Given the description of an element on the screen output the (x, y) to click on. 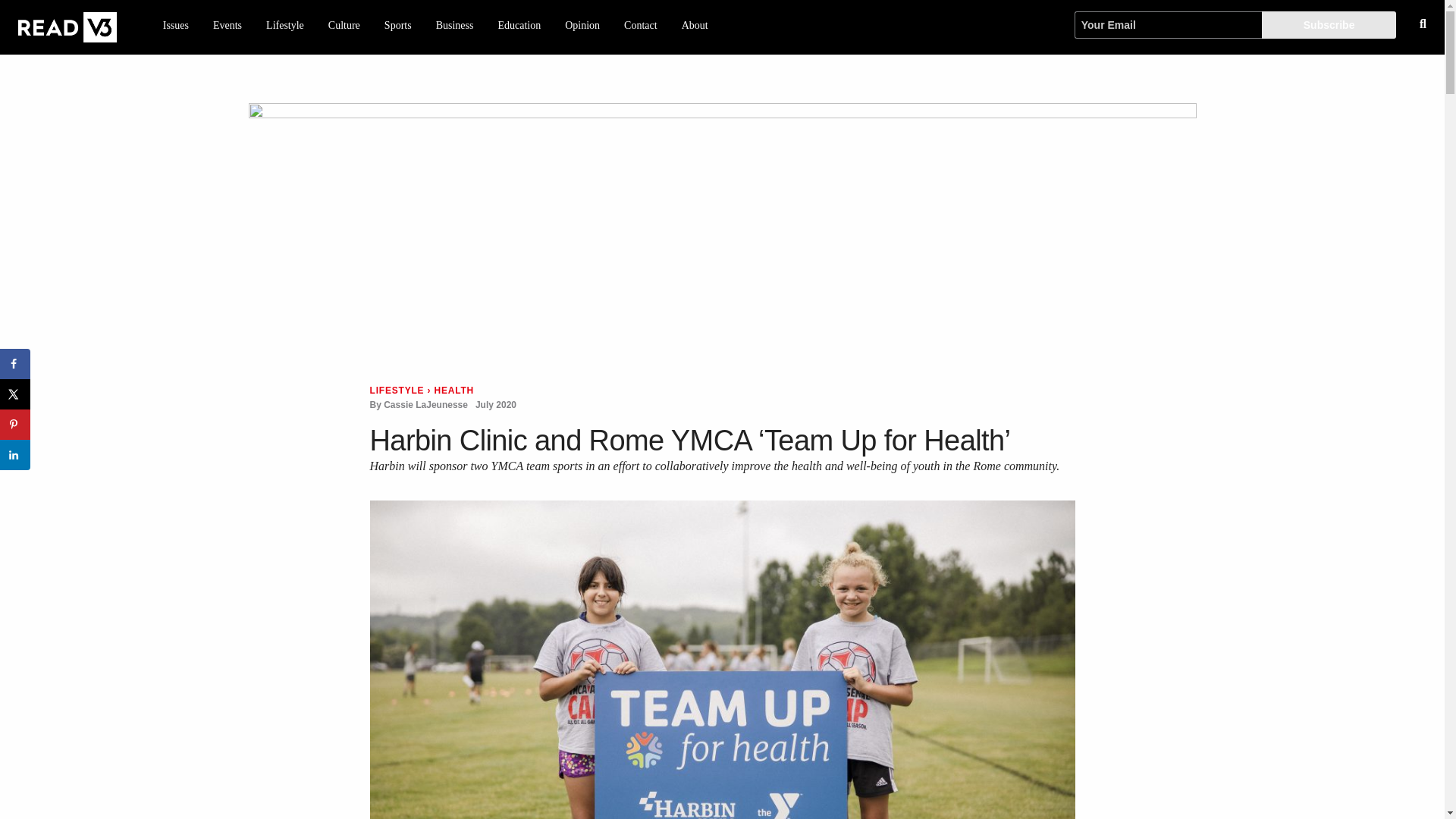
Go to the Lifestyle category archives. (397, 389)
Share on Facebook (15, 363)
HEALTH (453, 389)
Subscribe (1329, 24)
Posts by Cassie LaJeunesse (425, 404)
About (694, 25)
Education (518, 25)
Business (454, 25)
Share on X (15, 394)
Culture (343, 25)
Opinion (582, 25)
Events (226, 25)
Sports (397, 25)
LIFESTYLE (397, 389)
Issues (175, 25)
